Given the description of an element on the screen output the (x, y) to click on. 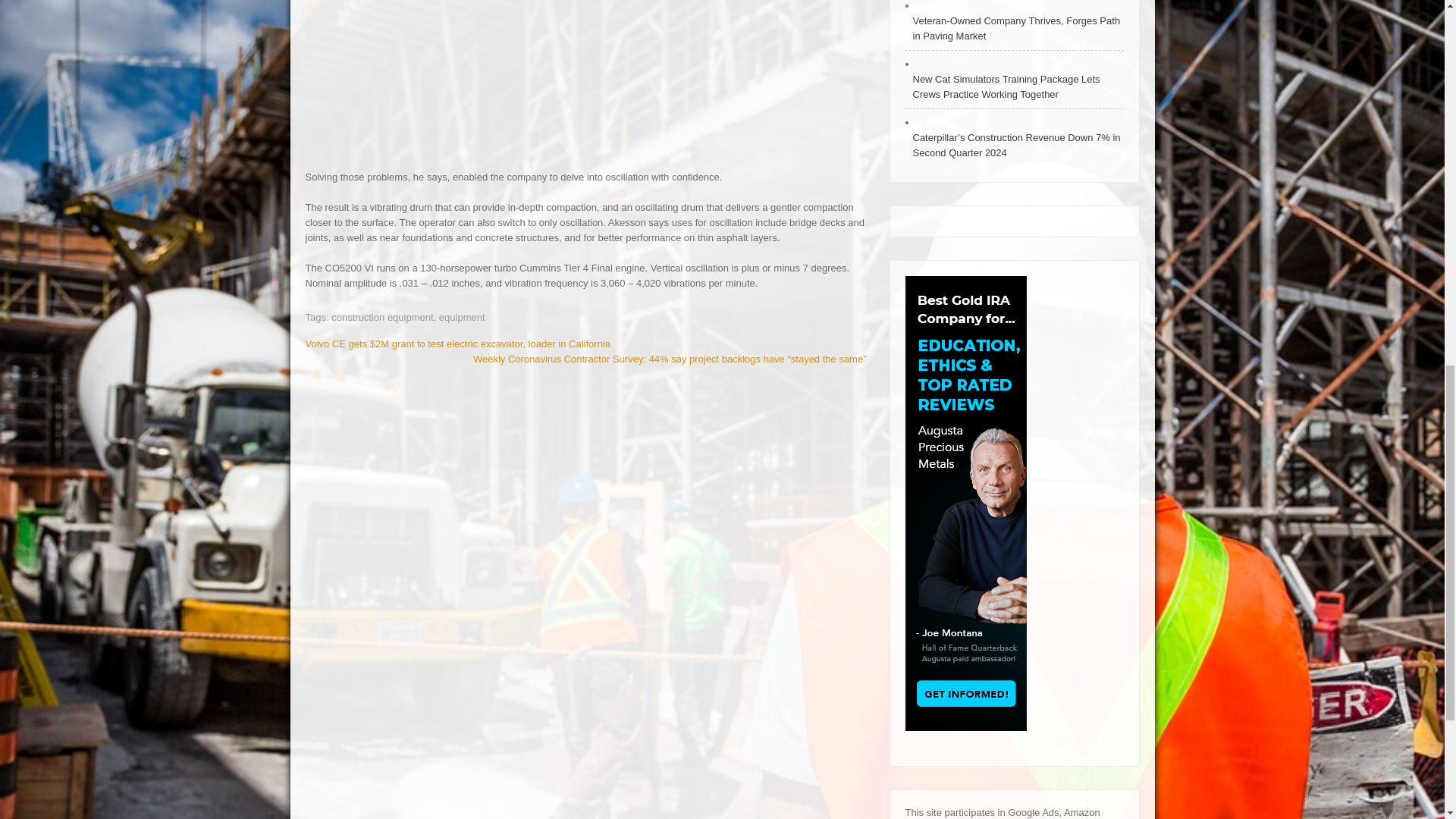
construction equipment (381, 317)
Veteran-Owned Company Thrives, Forges Path in Paving Market (1014, 28)
equipment (461, 317)
